Given the description of an element on the screen output the (x, y) to click on. 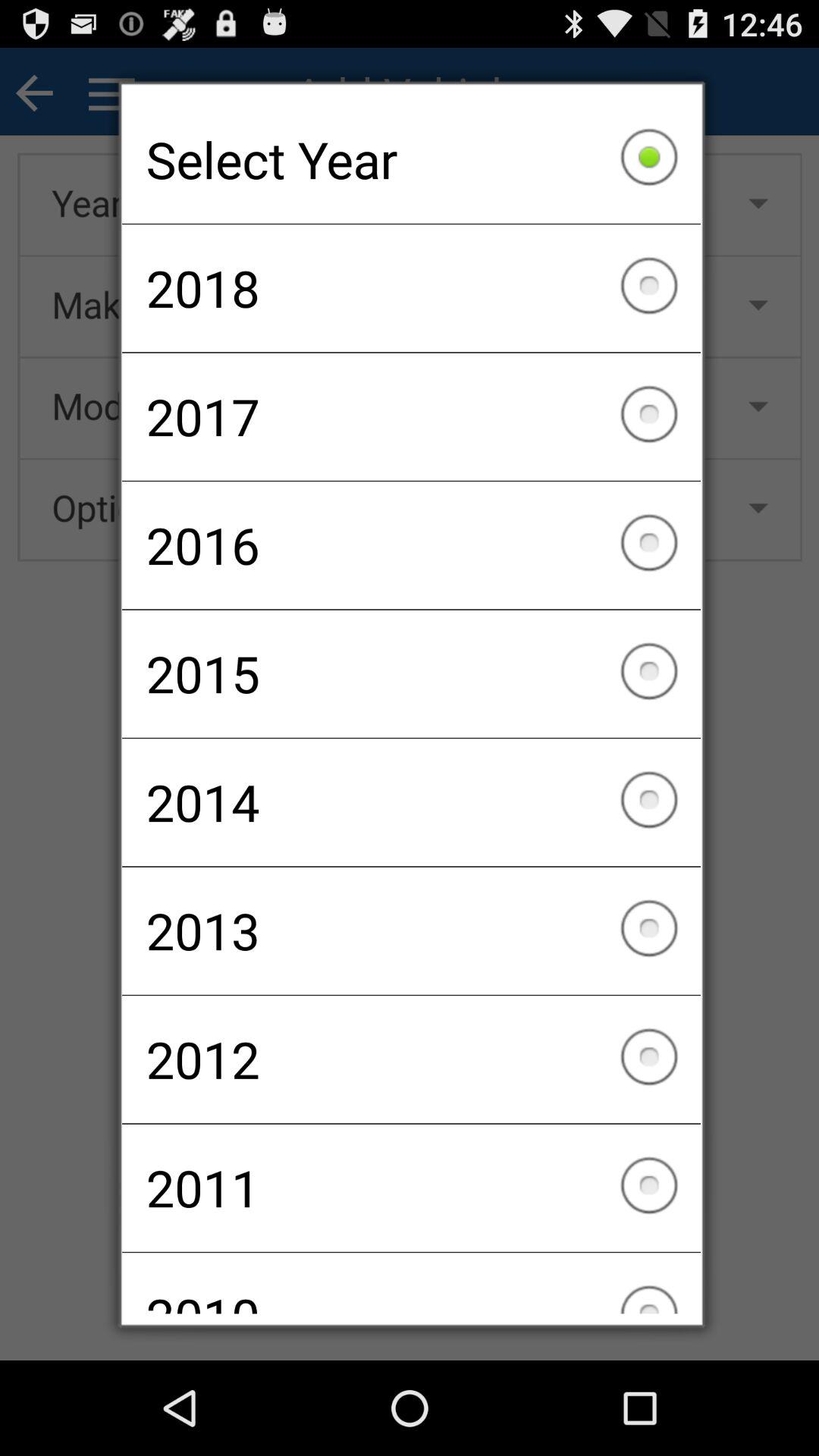
jump to 2017 checkbox (411, 416)
